Given the description of an element on the screen output the (x, y) to click on. 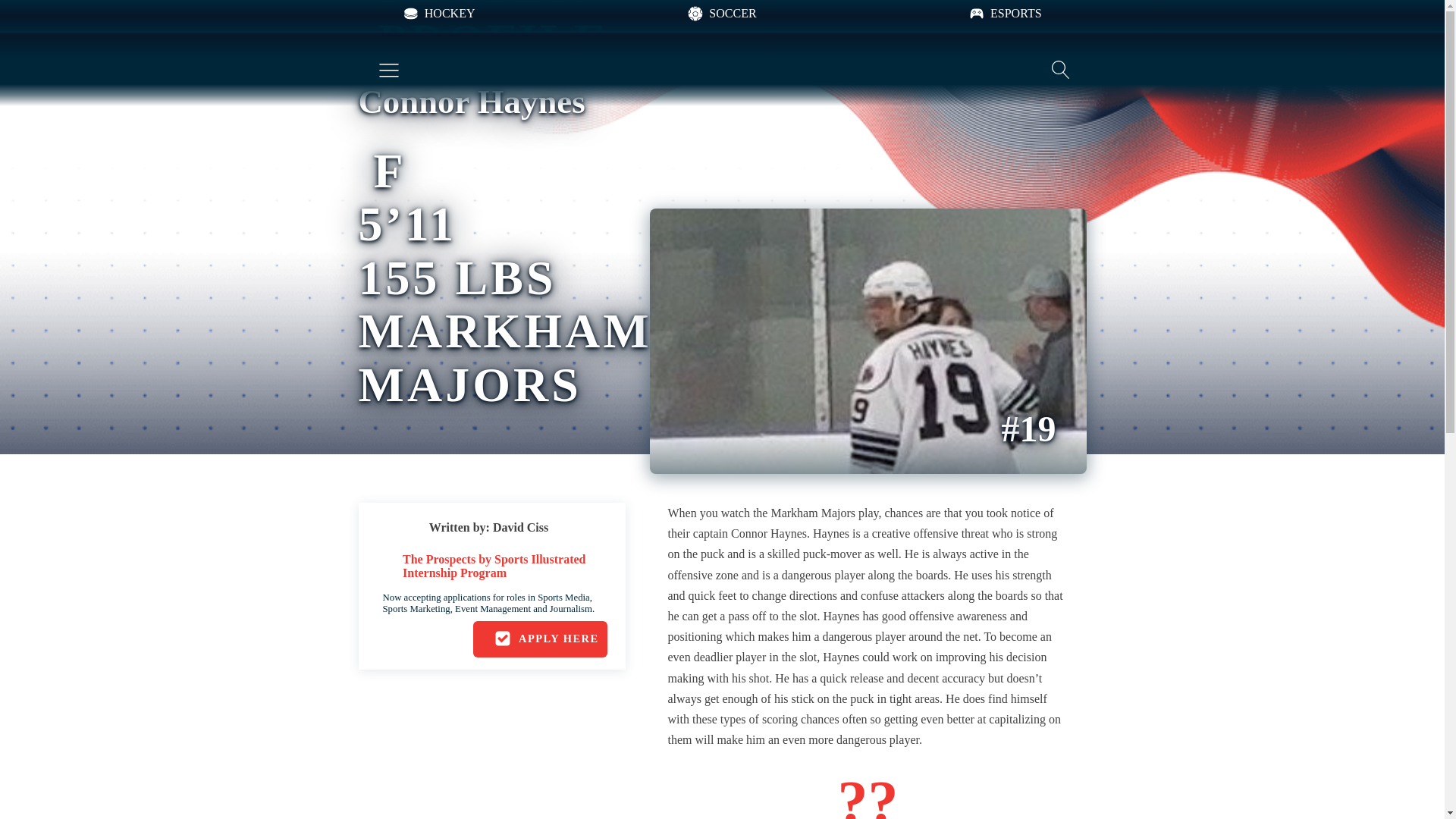
APPLY HERE (540, 638)
HOCKEY (438, 13)
Search (25, 9)
ESPORTS (1004, 13)
SOCCER (721, 13)
